Given the description of an element on the screen output the (x, y) to click on. 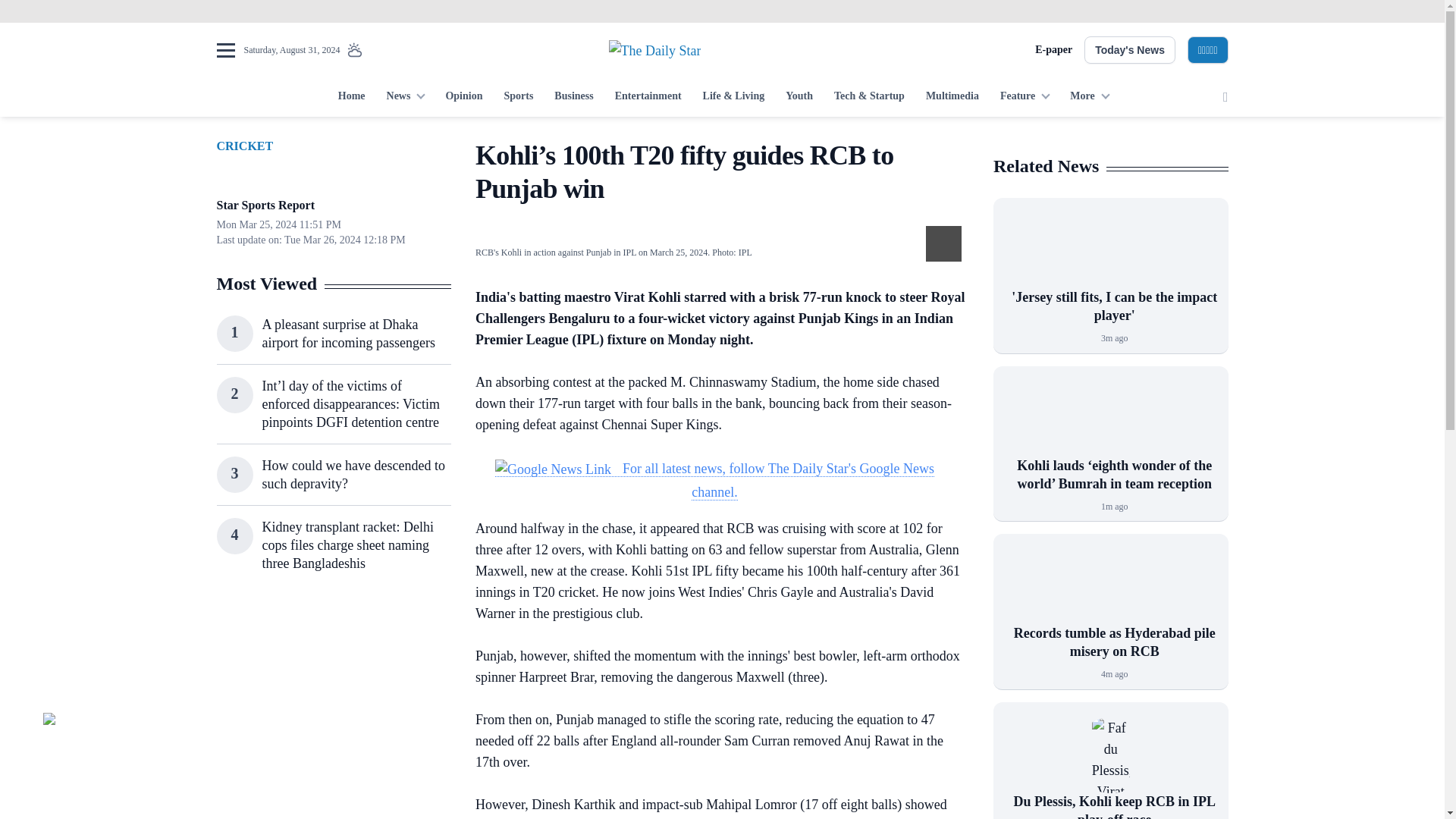
Business (573, 96)
Sports (518, 96)
Opinion (463, 96)
Entertainment (647, 96)
Home (351, 96)
Youth (799, 96)
Multimedia (952, 96)
Feature (1024, 96)
E-paper (1053, 49)
News (405, 96)
